Given the description of an element on the screen output the (x, y) to click on. 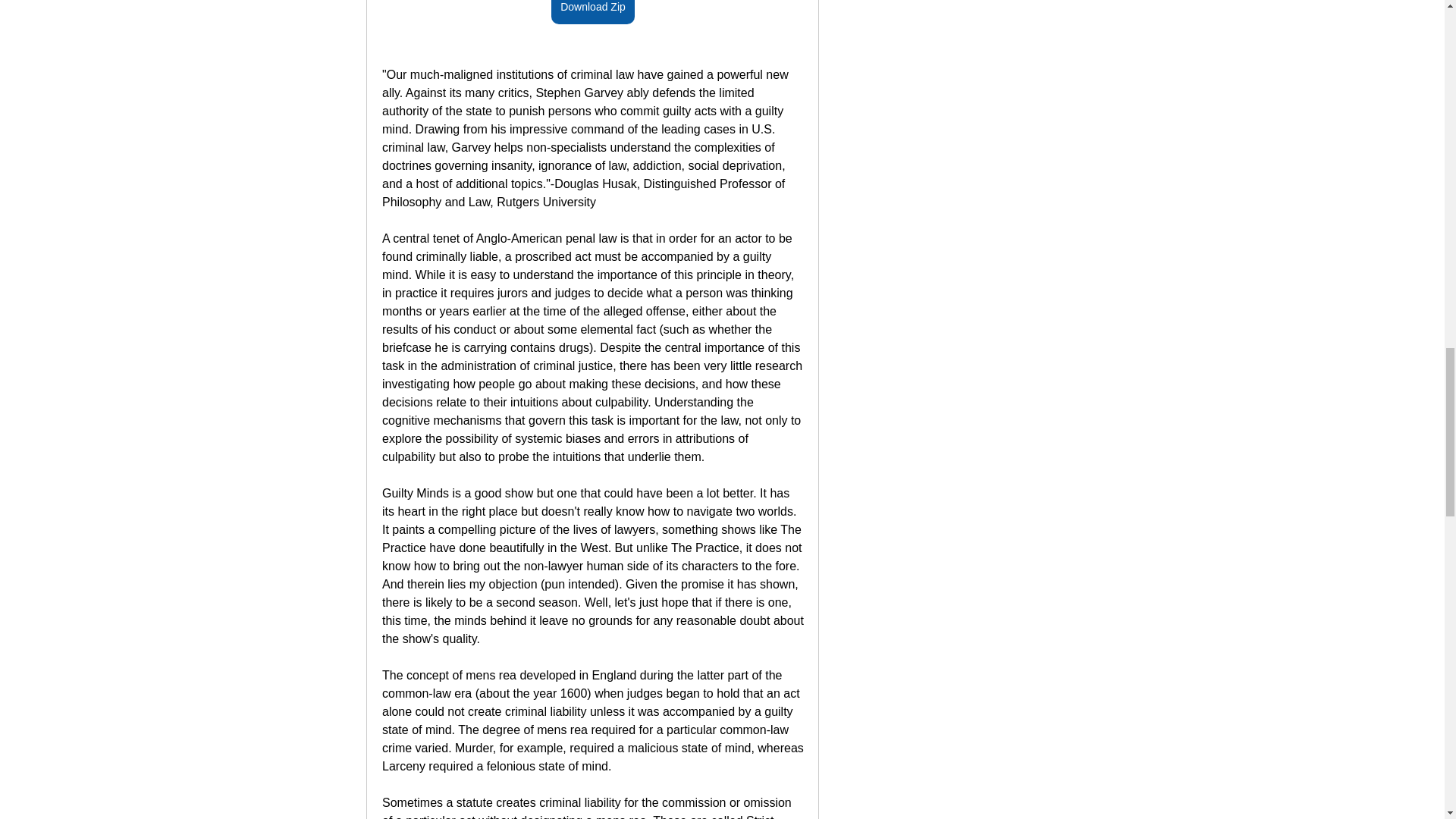
Download Zip (592, 12)
